Given the description of an element on the screen output the (x, y) to click on. 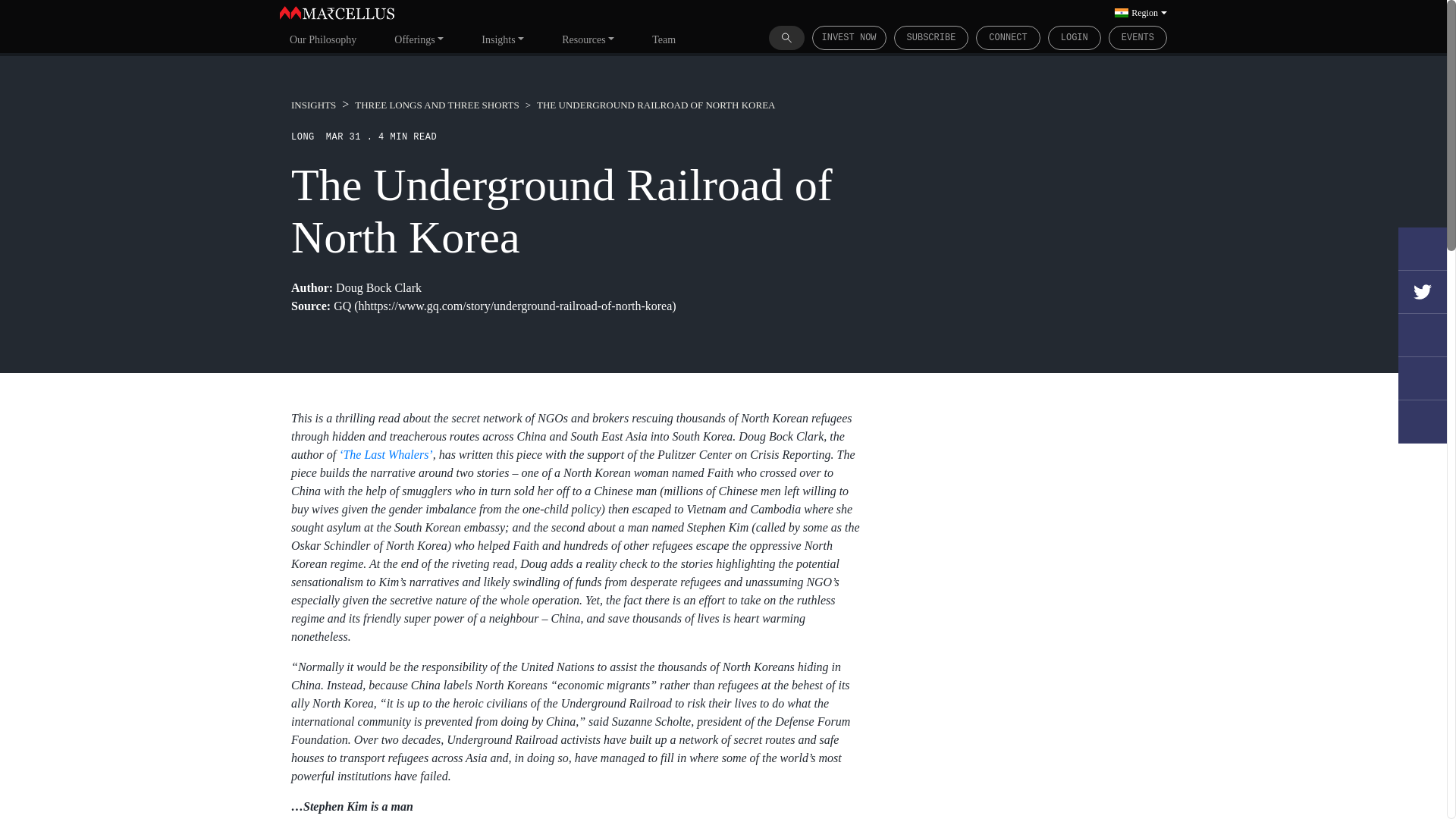
Region (1141, 12)
Our Philosophy (322, 38)
Offerings (418, 38)
Insights (502, 38)
